Given the description of an element on the screen output the (x, y) to click on. 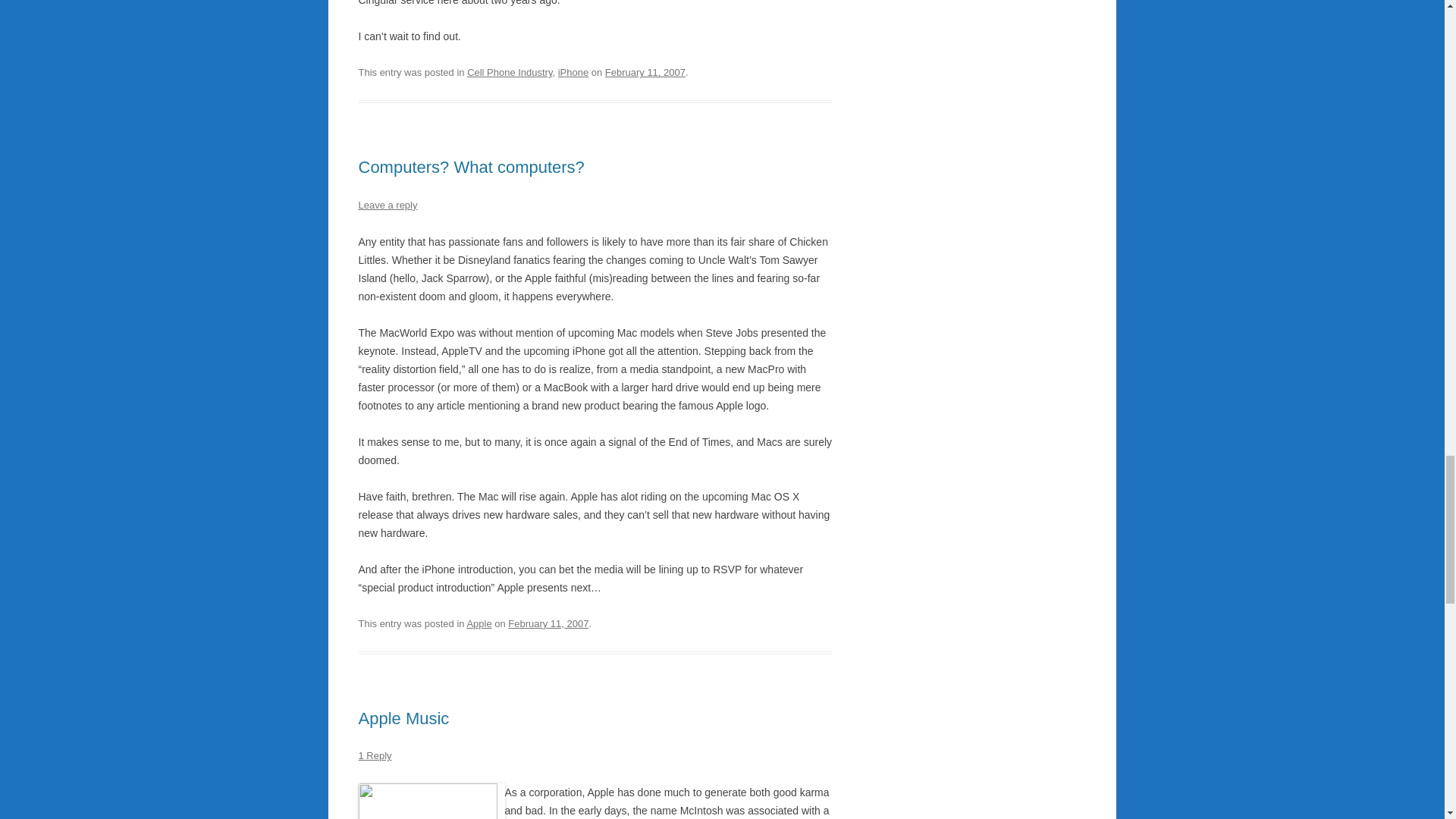
Leave a reply (387, 204)
Apple Music (403, 718)
1 Reply (374, 755)
Computers? What computers? (470, 167)
4:29 am (645, 71)
February 11, 2007 (548, 623)
Cell Phone Industry (509, 71)
iPhone (572, 71)
Apple (478, 623)
February 11, 2007 (645, 71)
4:20 am (548, 623)
